Given the description of an element on the screen output the (x, y) to click on. 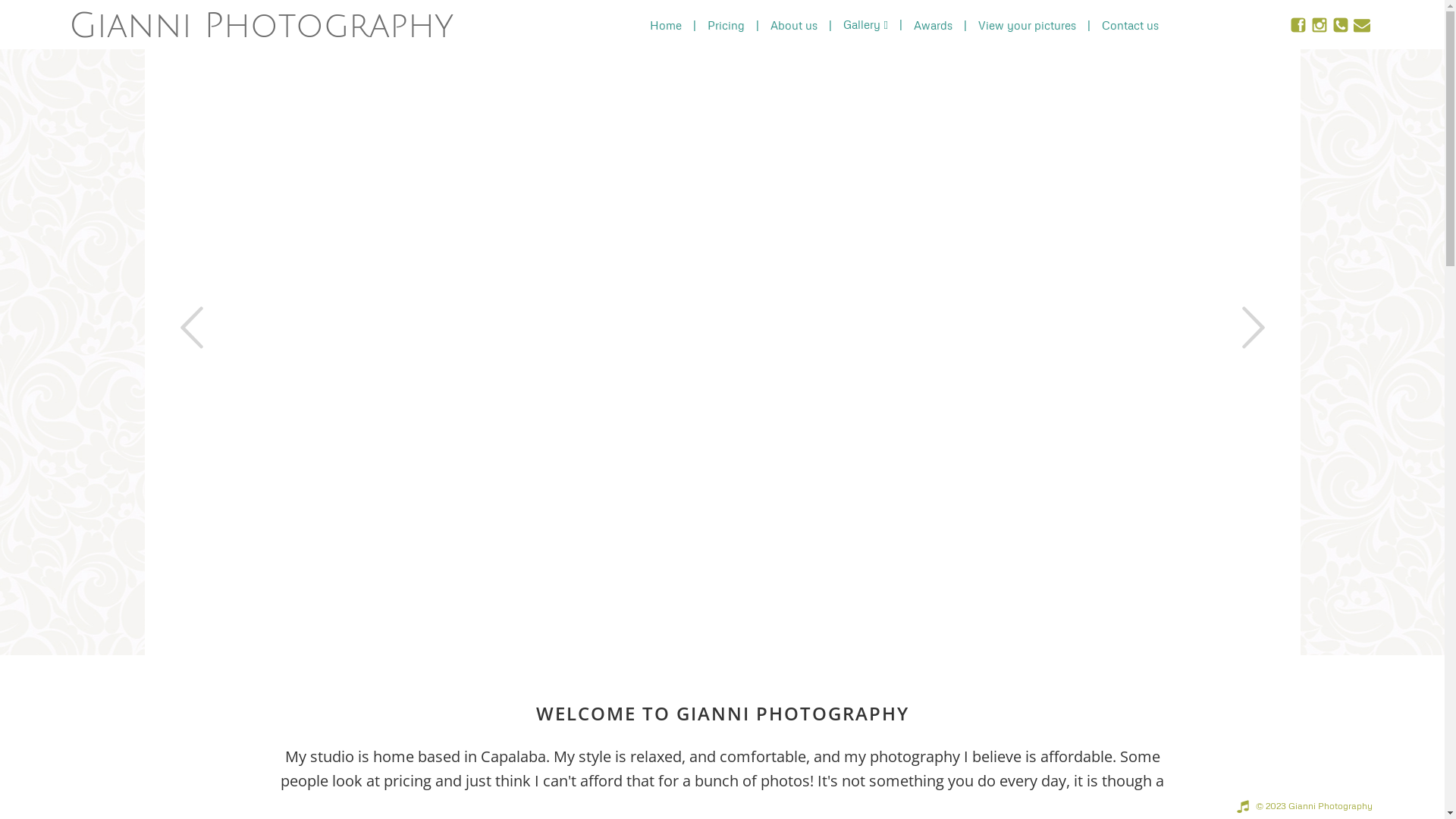
About us Element type: text (793, 24)
Home Element type: text (665, 24)
View your pictures Element type: text (1026, 24)
Pricing Element type: text (726, 24)
Awards Element type: text (932, 24)
Contact us Element type: text (1130, 24)
